Given the description of an element on the screen output the (x, y) to click on. 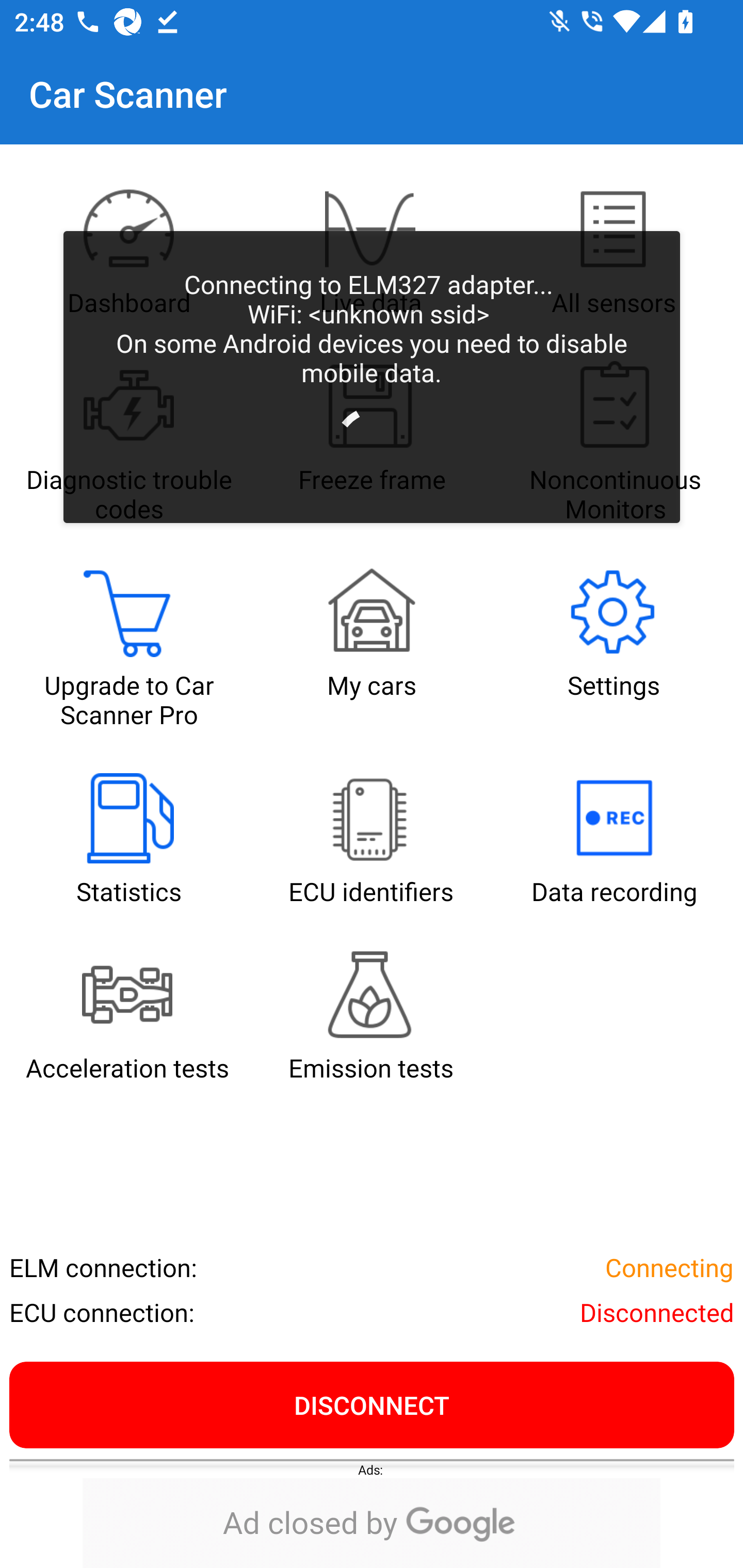
DISCONNECT (371, 1404)
